Given the description of an element on the screen output the (x, y) to click on. 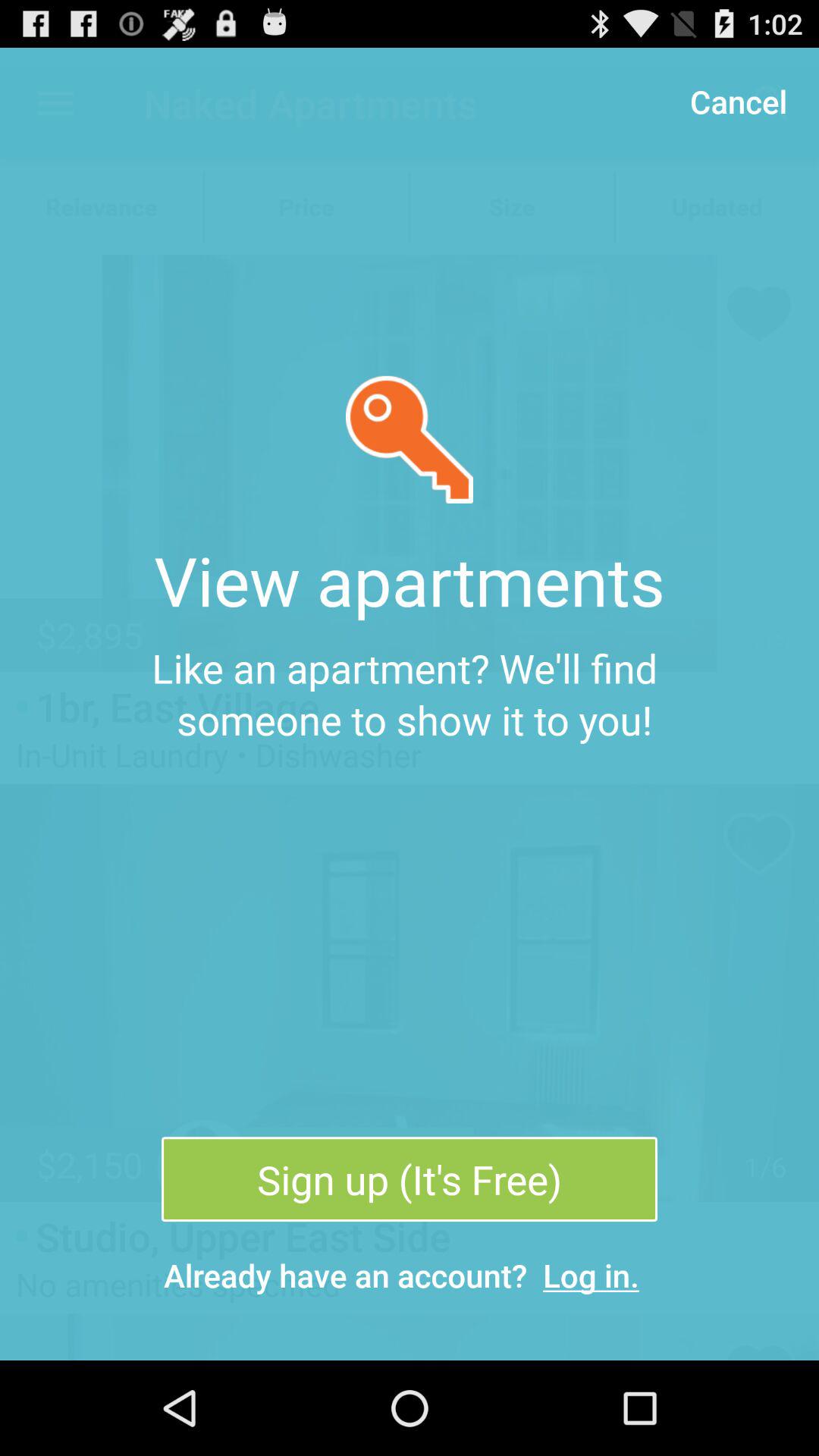
choose log in. item (591, 1274)
